Given the description of an element on the screen output the (x, y) to click on. 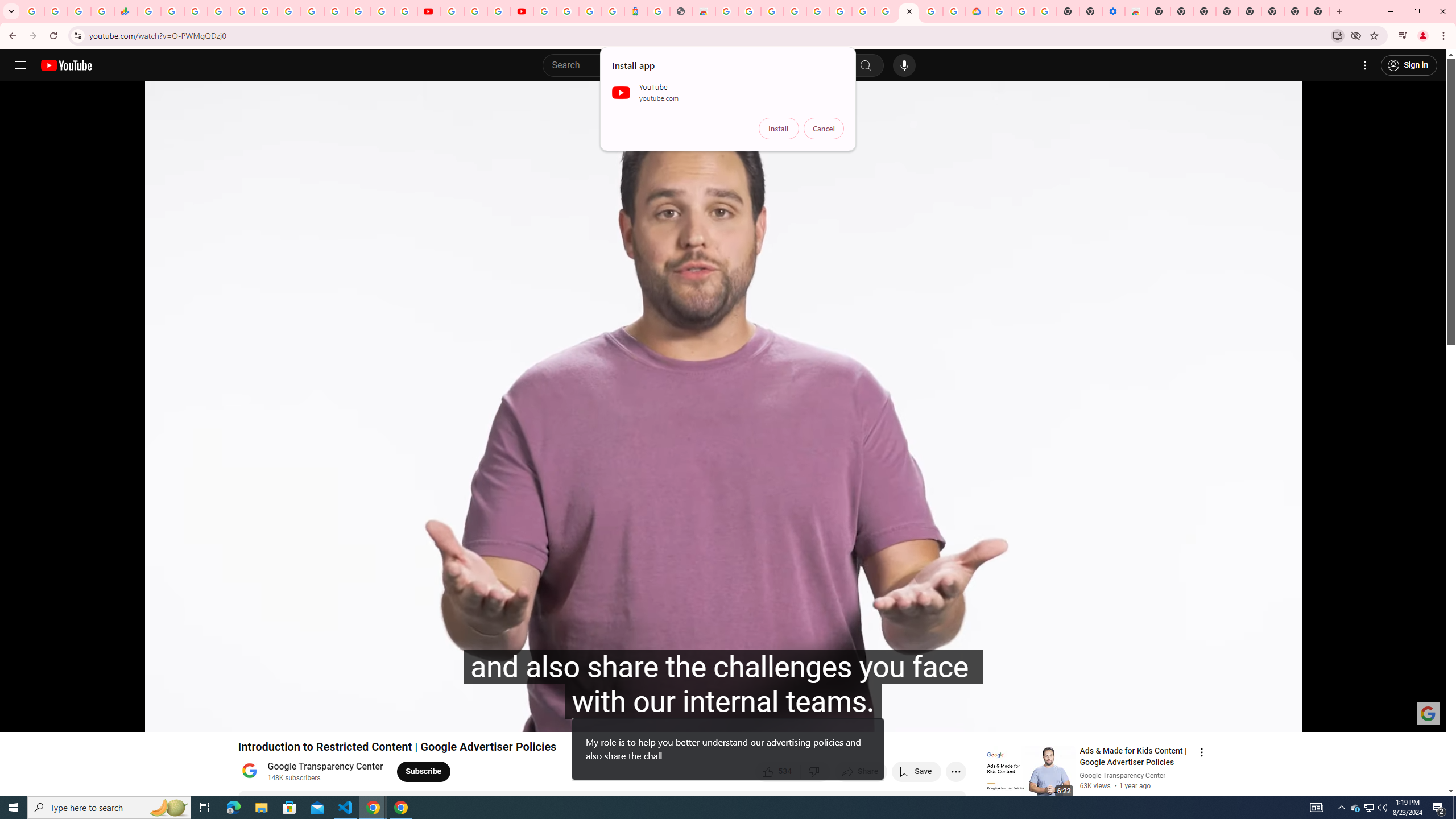
Android TV Policies and Guidelines - Transparency Center (885, 11)
Full screen (f) (1425, 718)
